Given the description of an element on the screen output the (x, y) to click on. 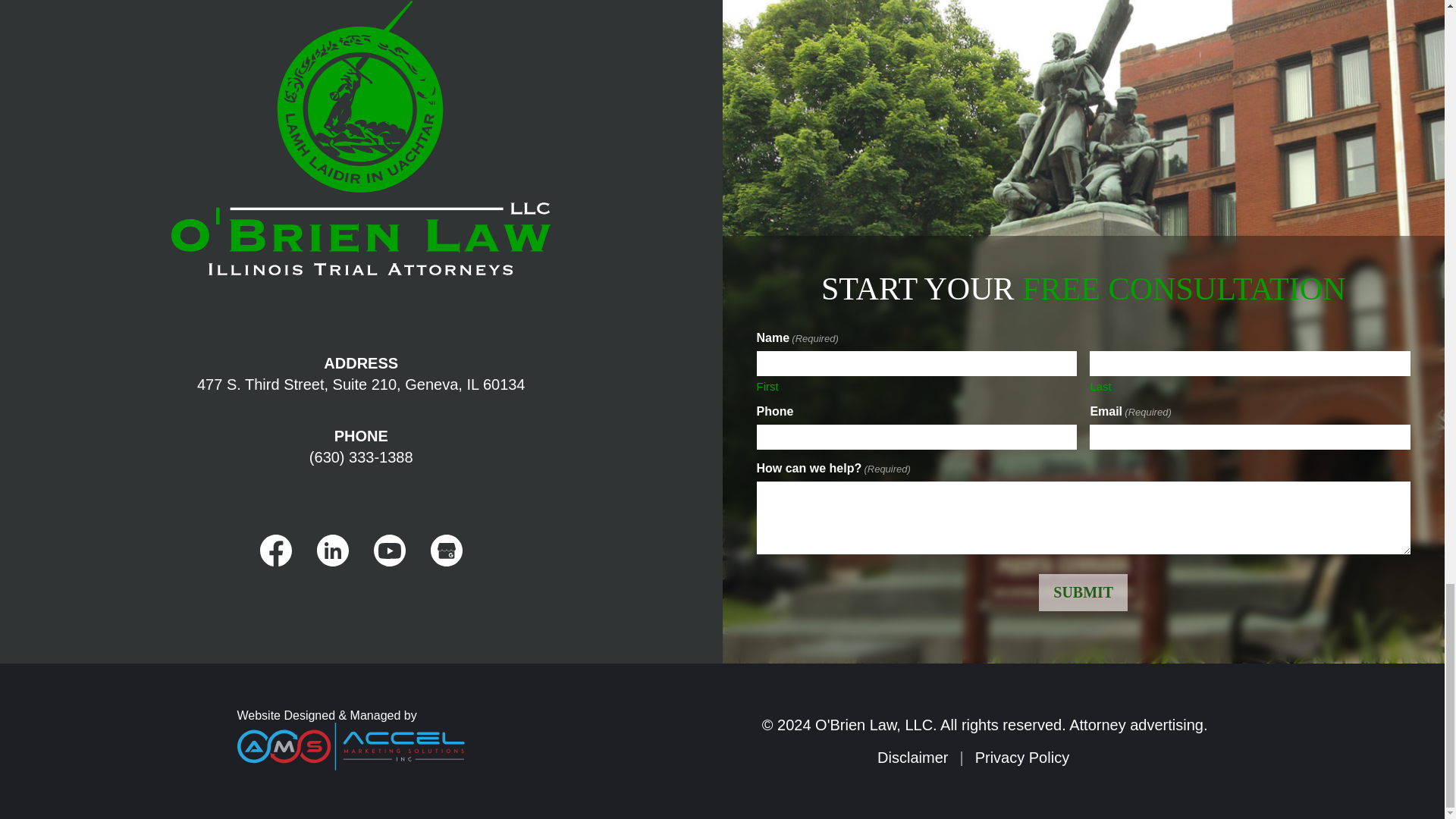
Submit (1082, 592)
